Given the description of an element on the screen output the (x, y) to click on. 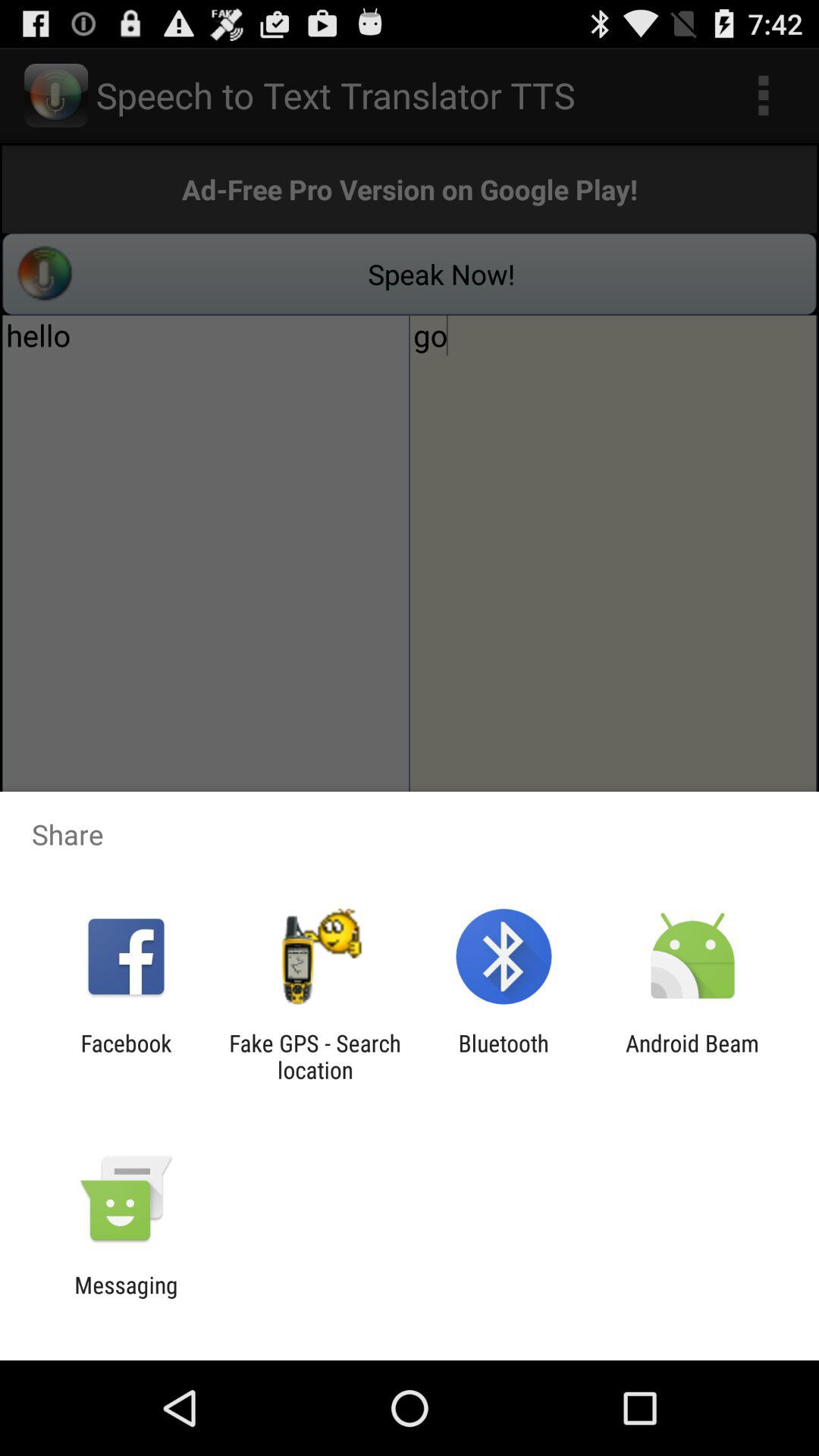
turn on the fake gps search app (314, 1056)
